Given the description of an element on the screen output the (x, y) to click on. 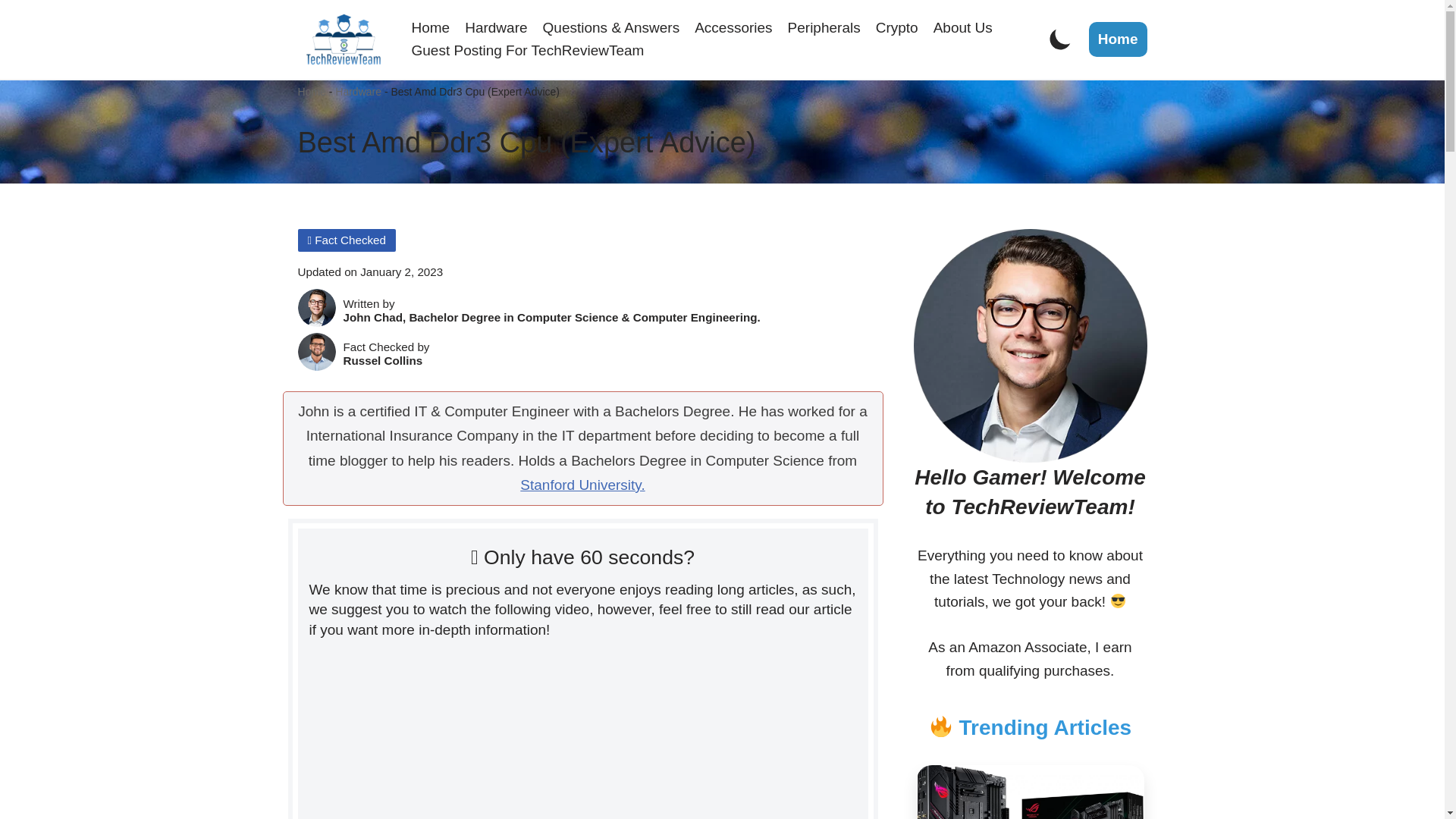
Crypto (897, 27)
Stanford University. (582, 484)
TechReviewTeam (342, 39)
About Us (962, 27)
Home (429, 27)
Guest Posting For TechReviewTeam (526, 50)
Hardware (357, 91)
Hardware (495, 27)
Accessories (732, 27)
Skip to content (11, 31)
